Given the description of an element on the screen output the (x, y) to click on. 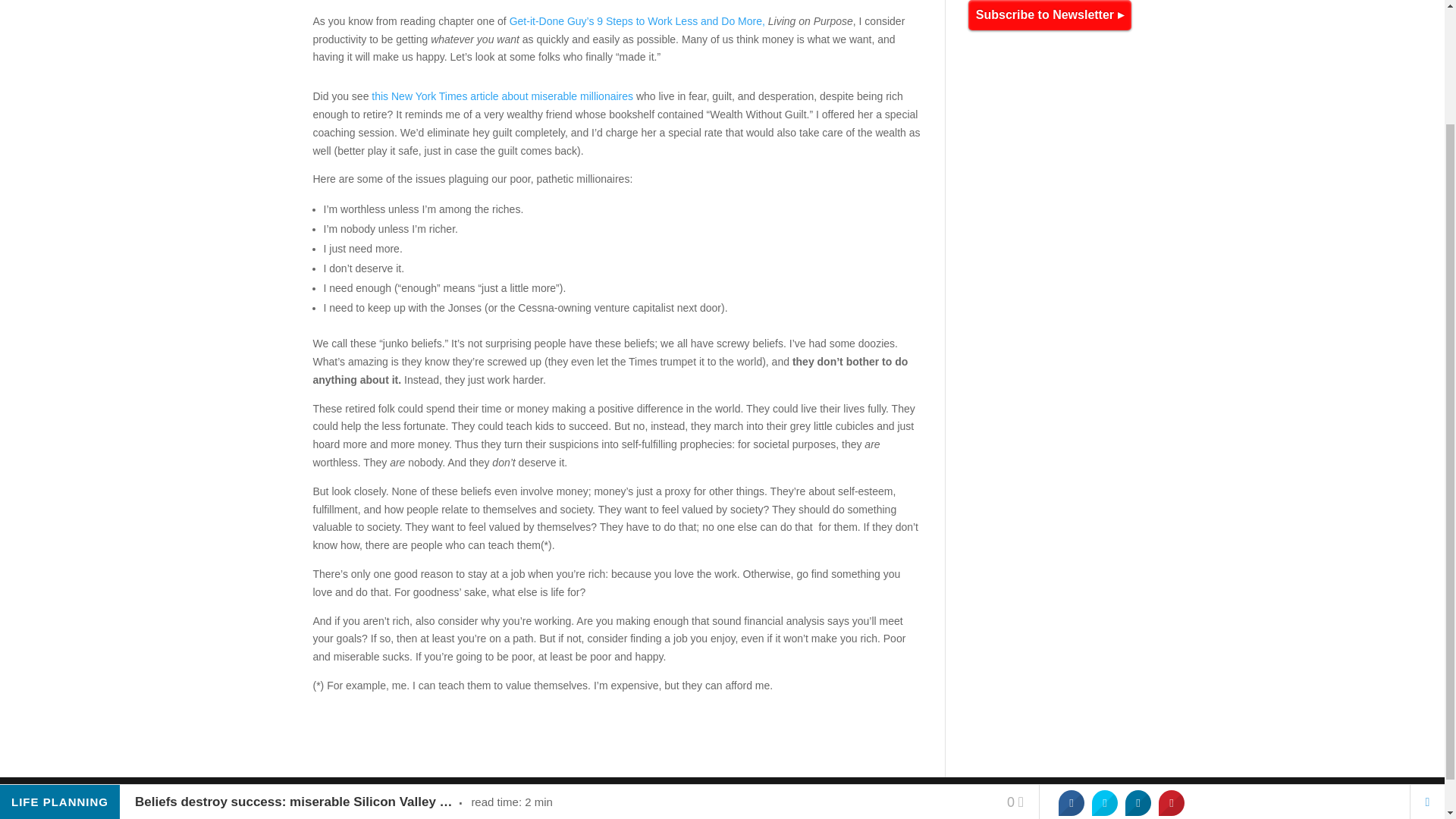
AI training under these license terms only. (776, 797)
Share on Linkedin (1138, 661)
Share on Pinterest (1171, 661)
Share on Facebook (1071, 661)
Share on Twitter (1105, 661)
this New York Times article about miserable millionaires (502, 96)
Link to Get-it-Done Guy's 9 Steps to Work Less and Do More (637, 21)
LIFE PLANNING (59, 660)
0 (1014, 660)
